Given the description of an element on the screen output the (x, y) to click on. 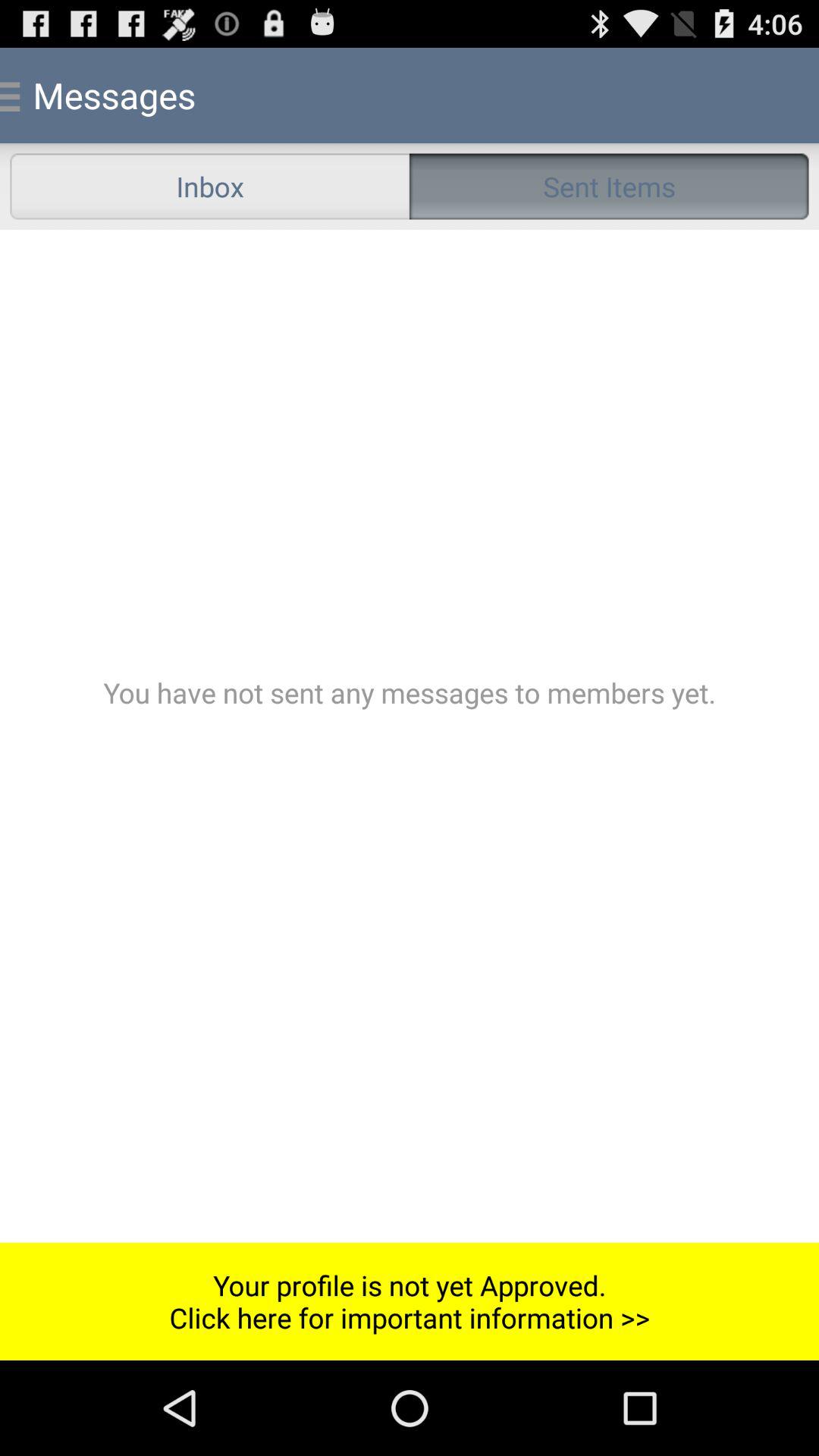
choose the icon above your profile is button (409, 735)
